Given the description of an element on the screen output the (x, y) to click on. 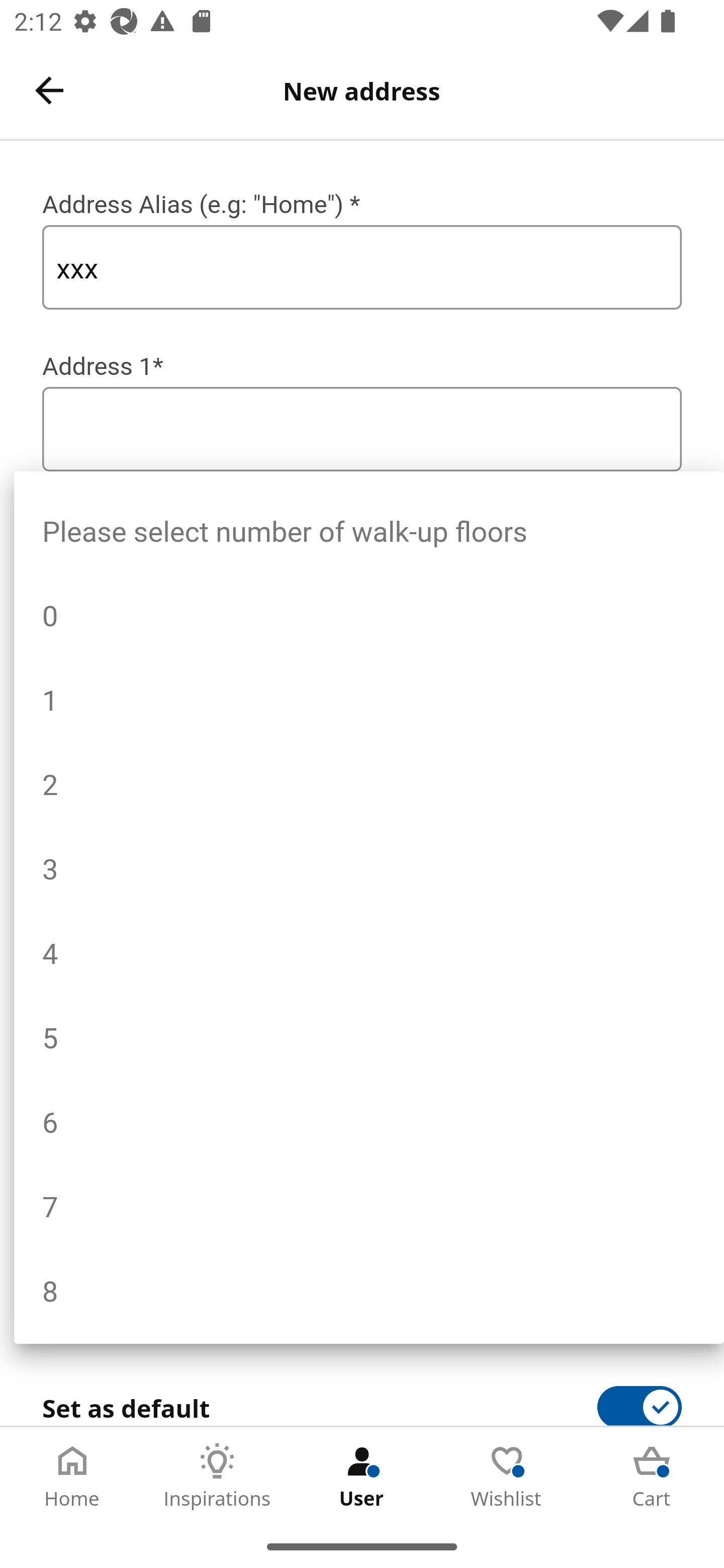
Please select number of walk-up floors (368, 527)
0 (368, 611)
1 (368, 695)
2 (368, 780)
3 (368, 865)
4 (368, 949)
5 (368, 1034)
6 (368, 1118)
7 (368, 1202)
8 (368, 1286)
Home
Tab 1 of 5 (72, 1476)
Inspirations
Tab 2 of 5 (216, 1476)
User
Tab 3 of 5 (361, 1476)
Wishlist
Tab 4 of 5 (506, 1476)
Cart
Tab 5 of 5 (651, 1476)
